Given the description of an element on the screen output the (x, y) to click on. 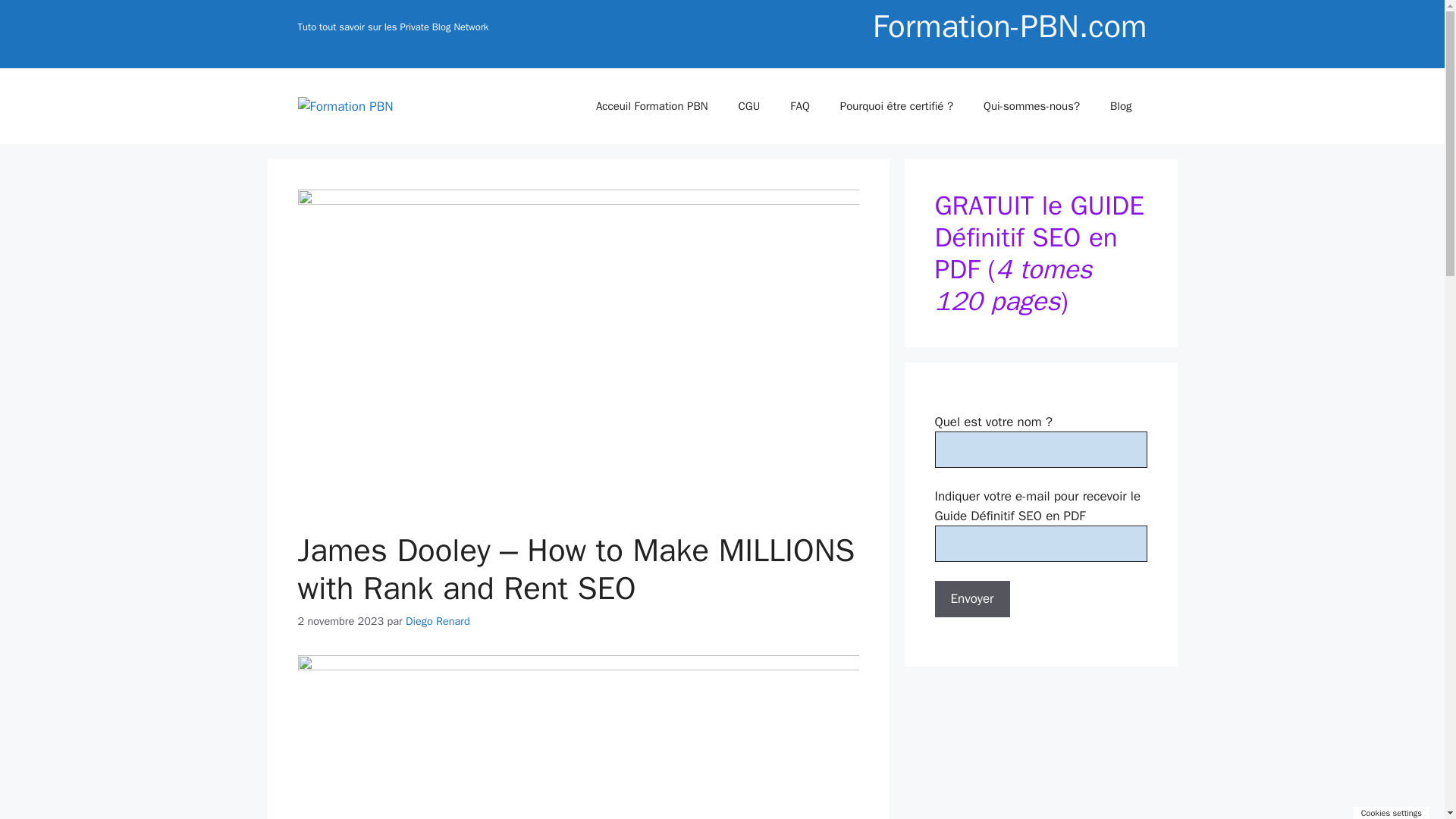
Formation PBN (345, 107)
Acceuil Formation PBN (651, 105)
Diego Renard (438, 621)
Qui-sommes-nous? (1031, 105)
Envoyer (971, 598)
Blog (1120, 105)
Afficher tous les articles de Diego Renard (438, 621)
CGU (749, 105)
Formation PBN (345, 105)
FAQ (799, 105)
Envoyer (971, 598)
